Given the description of an element on the screen output the (x, y) to click on. 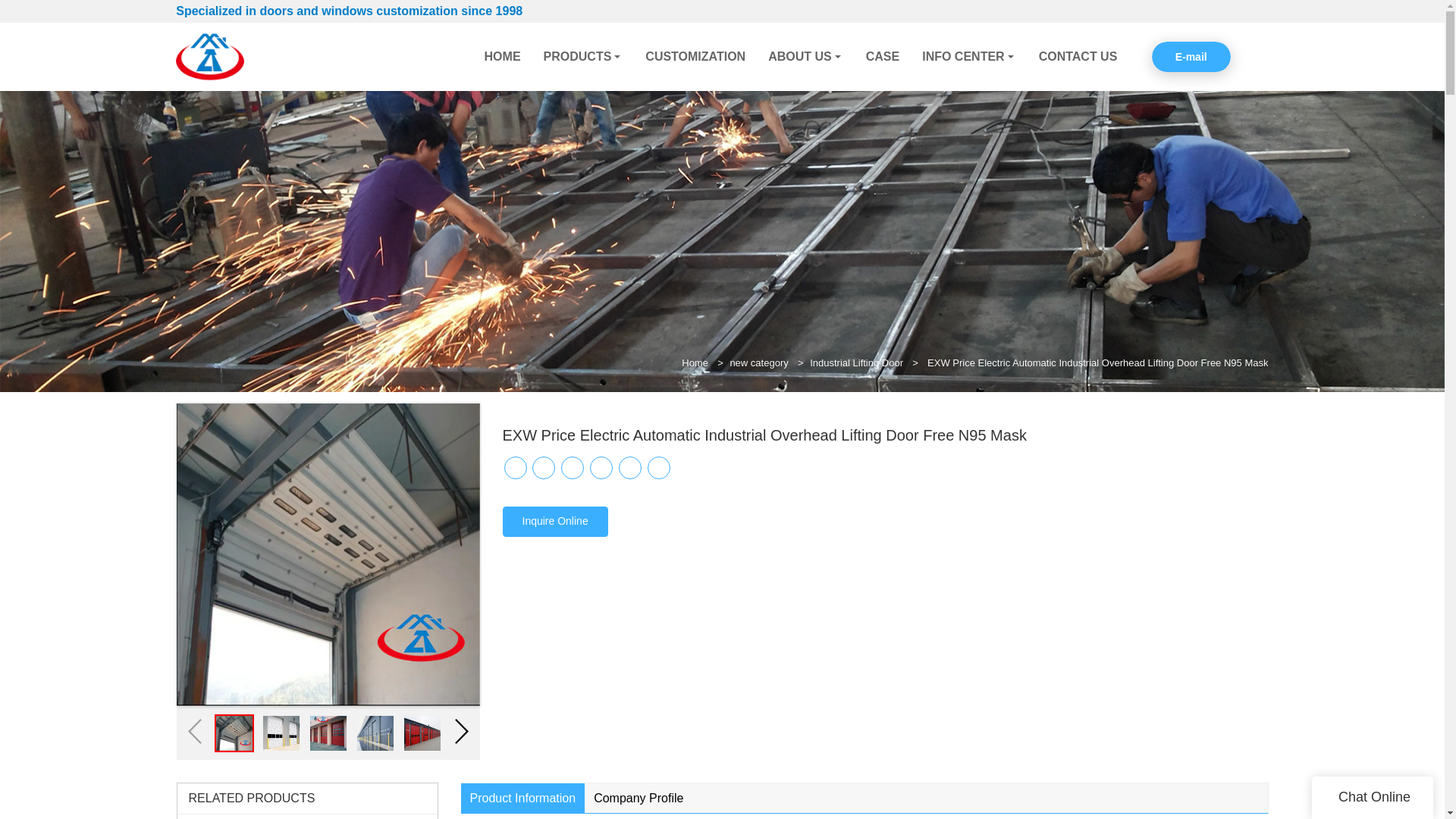
PRODUCTS (583, 56)
        E-mail         (1190, 56)
